Given the description of an element on the screen output the (x, y) to click on. 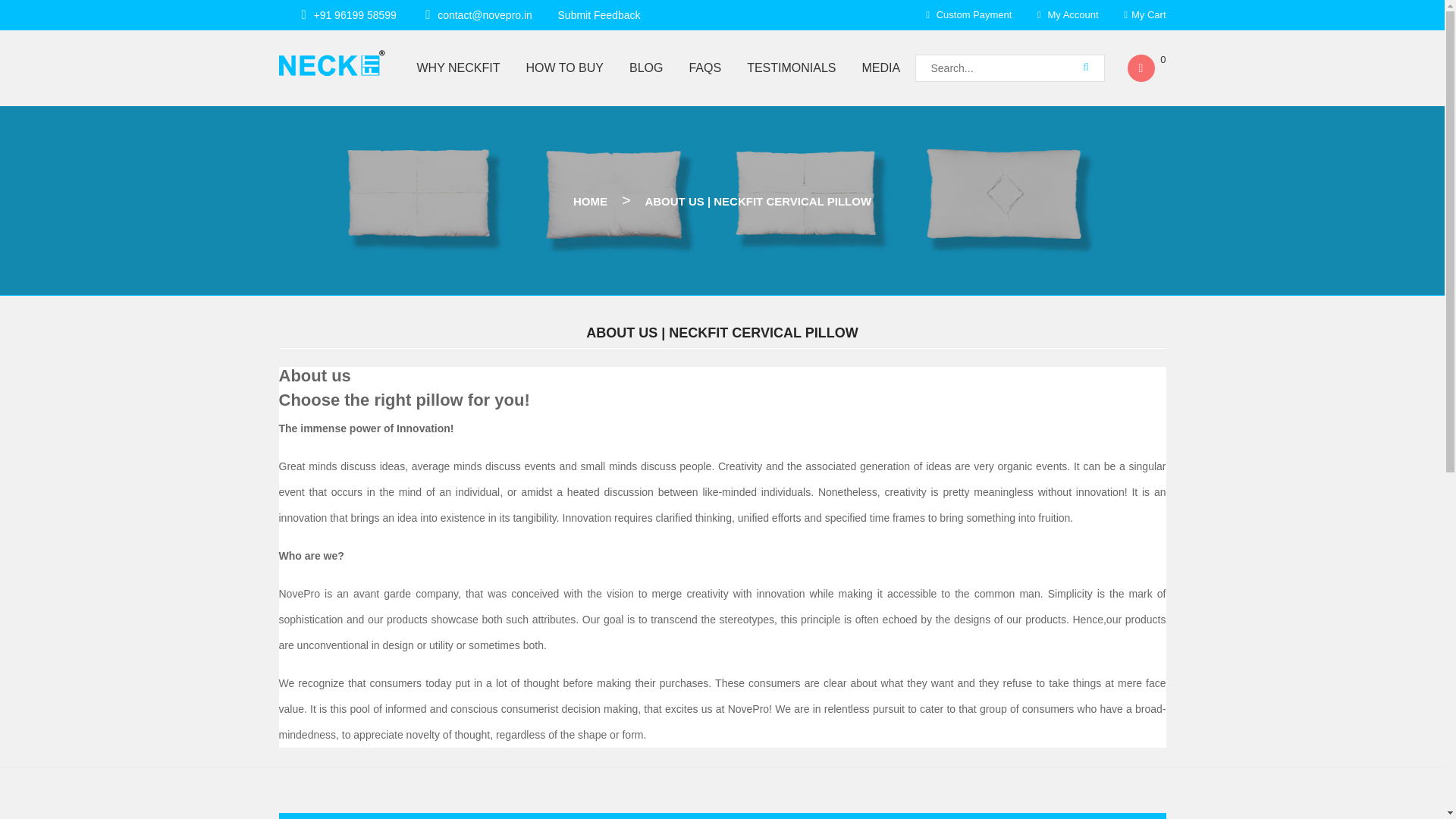
My Cart (1145, 14)
SHOULDER PAIN PILLOW (418, 122)
TESTIMONIALS (791, 68)
My Account (1067, 14)
Log in to your customer account (1067, 14)
CERVICAL PILLOW (424, 112)
WHY NECKFIT (458, 68)
My Cart (1145, 14)
Submit Feedback (598, 15)
Cervical Pillow (424, 112)
Why Neckfit (458, 68)
CUSTOM MADE PILLOW (415, 122)
HOW TO BUY (564, 68)
How to buy (564, 68)
Custom Payment (968, 14)
